Given the description of an element on the screen output the (x, y) to click on. 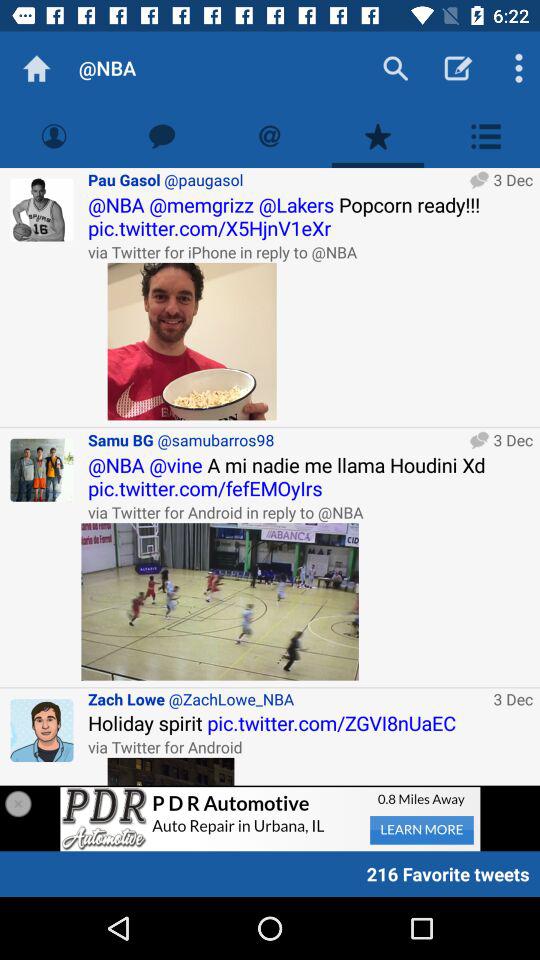
turn off the item next to 3 dec item (287, 698)
